Given the description of an element on the screen output the (x, y) to click on. 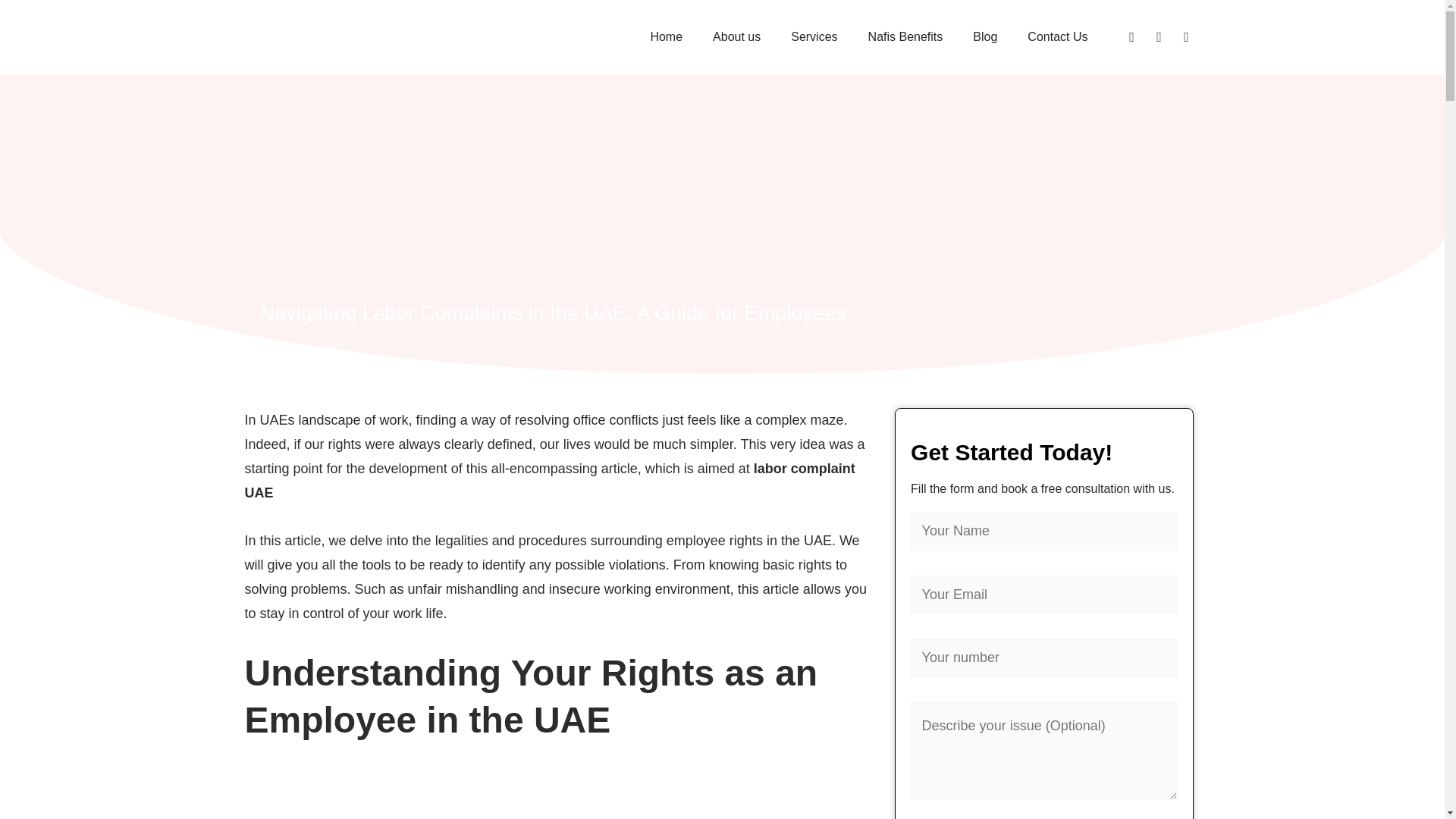
Home (665, 36)
Blog (984, 36)
Services (813, 36)
Contact Us (1056, 36)
Nafis Benefits (905, 36)
About us (736, 36)
